Given the description of an element on the screen output the (x, y) to click on. 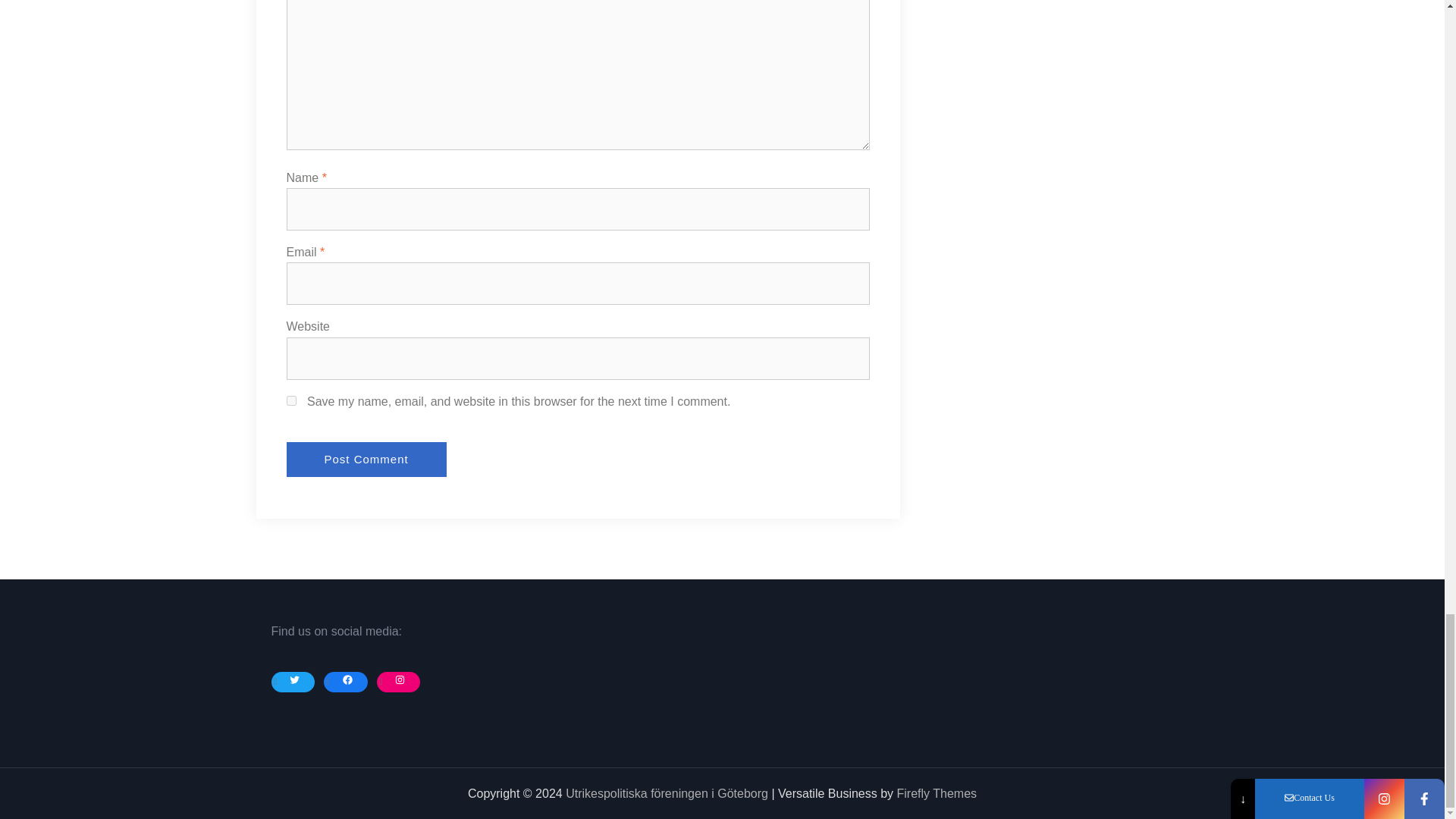
Instagram (400, 679)
Post Comment (366, 459)
Post Comment (366, 459)
Twitter (295, 679)
Facebook (347, 679)
yes (291, 400)
